Given the description of an element on the screen output the (x, y) to click on. 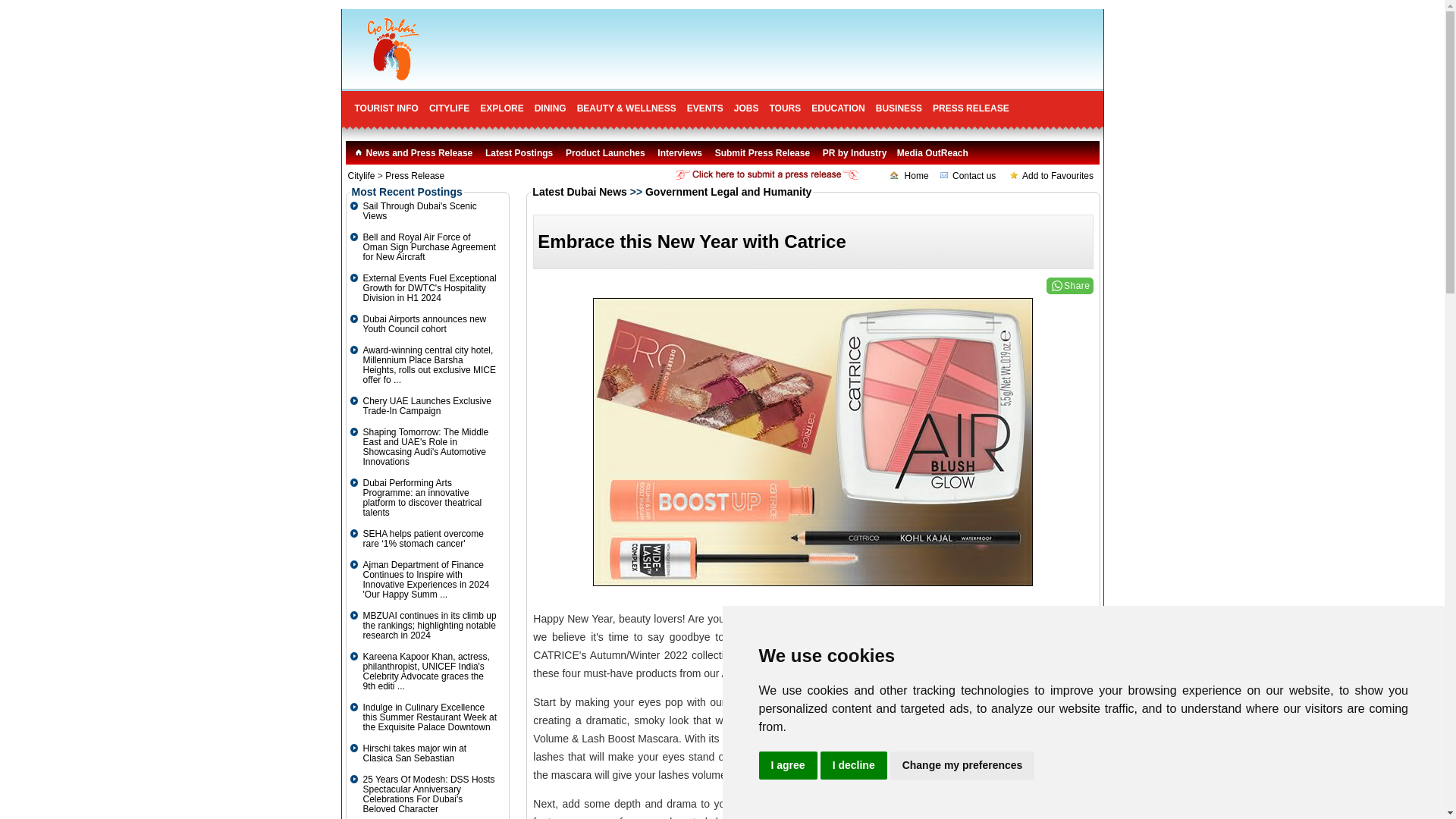
Change my preferences (962, 765)
EDUCATION (837, 107)
Press Release (414, 175)
I agree (787, 765)
  News and Press Release  (412, 153)
CITYLIFE (448, 107)
 Interviews  (678, 153)
JOBS (746, 107)
 Submit Press Release  (761, 153)
 PR by Industry  (853, 153)
